Given the description of an element on the screen output the (x, y) to click on. 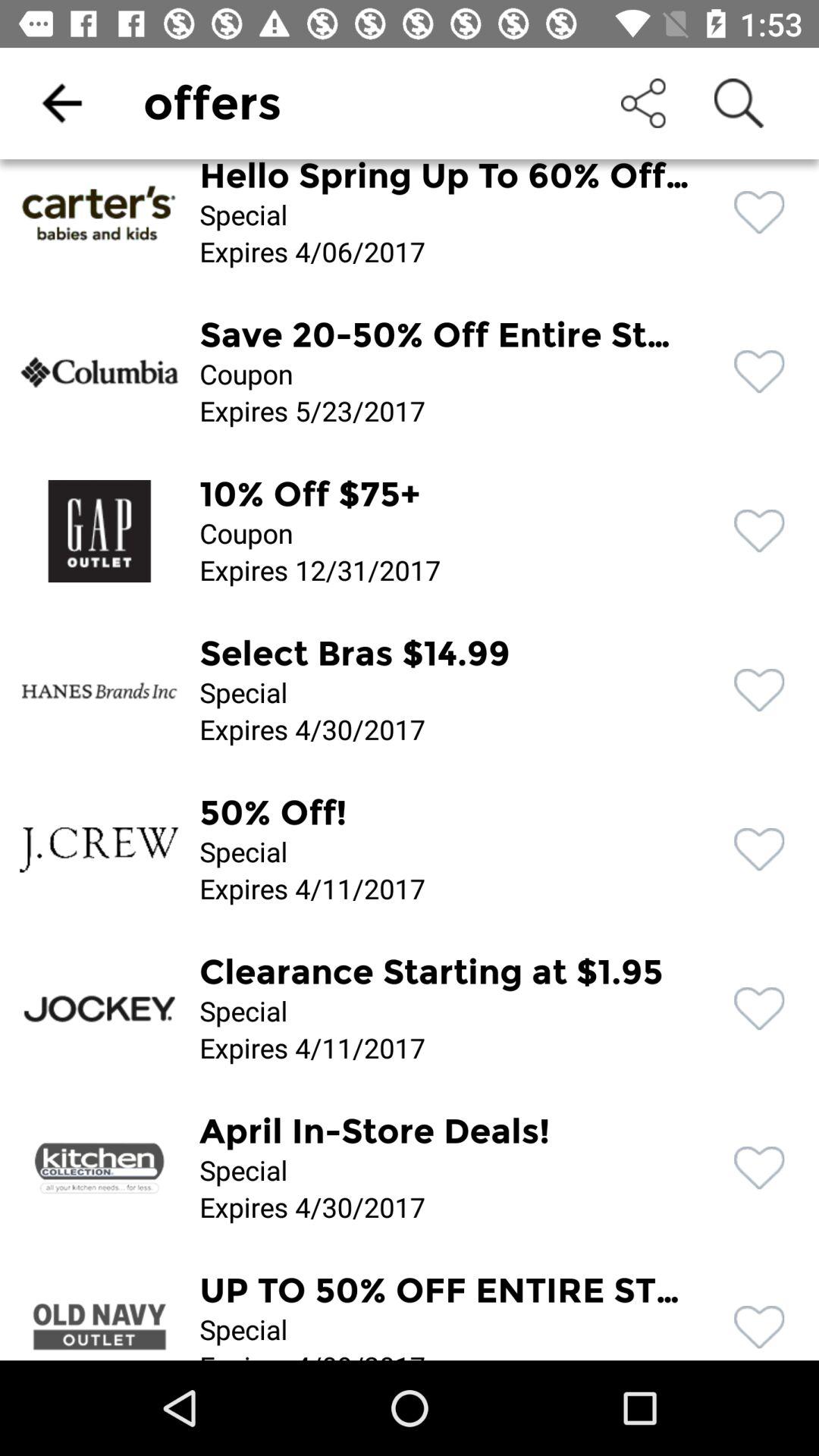
click on the 2nd heart symbol from the last at the bottom of the web page (759, 1167)
